Given the description of an element on the screen output the (x, y) to click on. 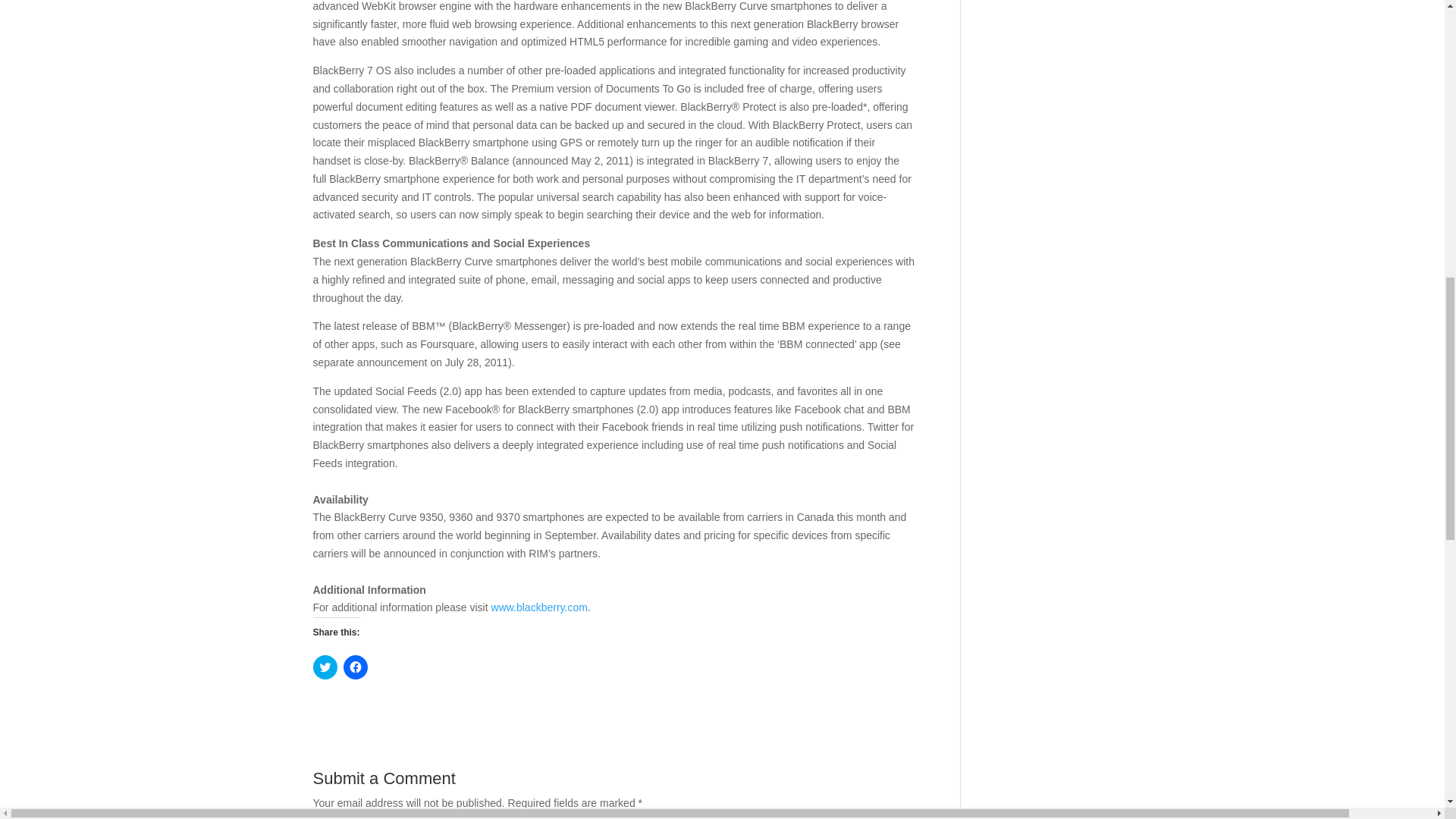
Click to share on Twitter (324, 667)
Click to share on Facebook (354, 667)
www.blackberry.com (540, 607)
